Given the description of an element on the screen output the (x, y) to click on. 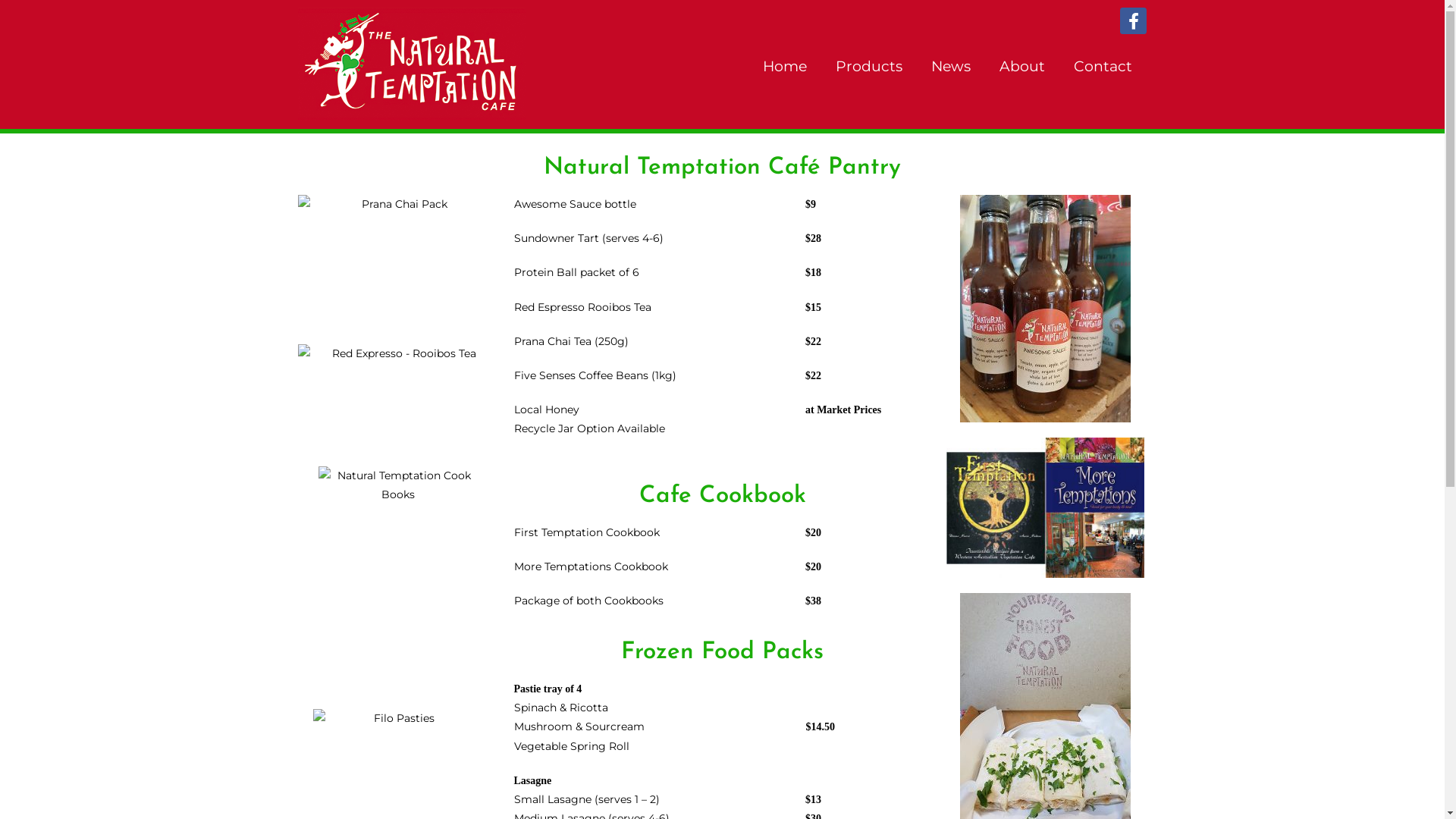
News Element type: text (950, 66)
Home Element type: text (784, 66)
Products Element type: text (868, 66)
Contact Element type: text (1102, 66)
About Element type: text (1022, 66)
